Given the description of an element on the screen output the (x, y) to click on. 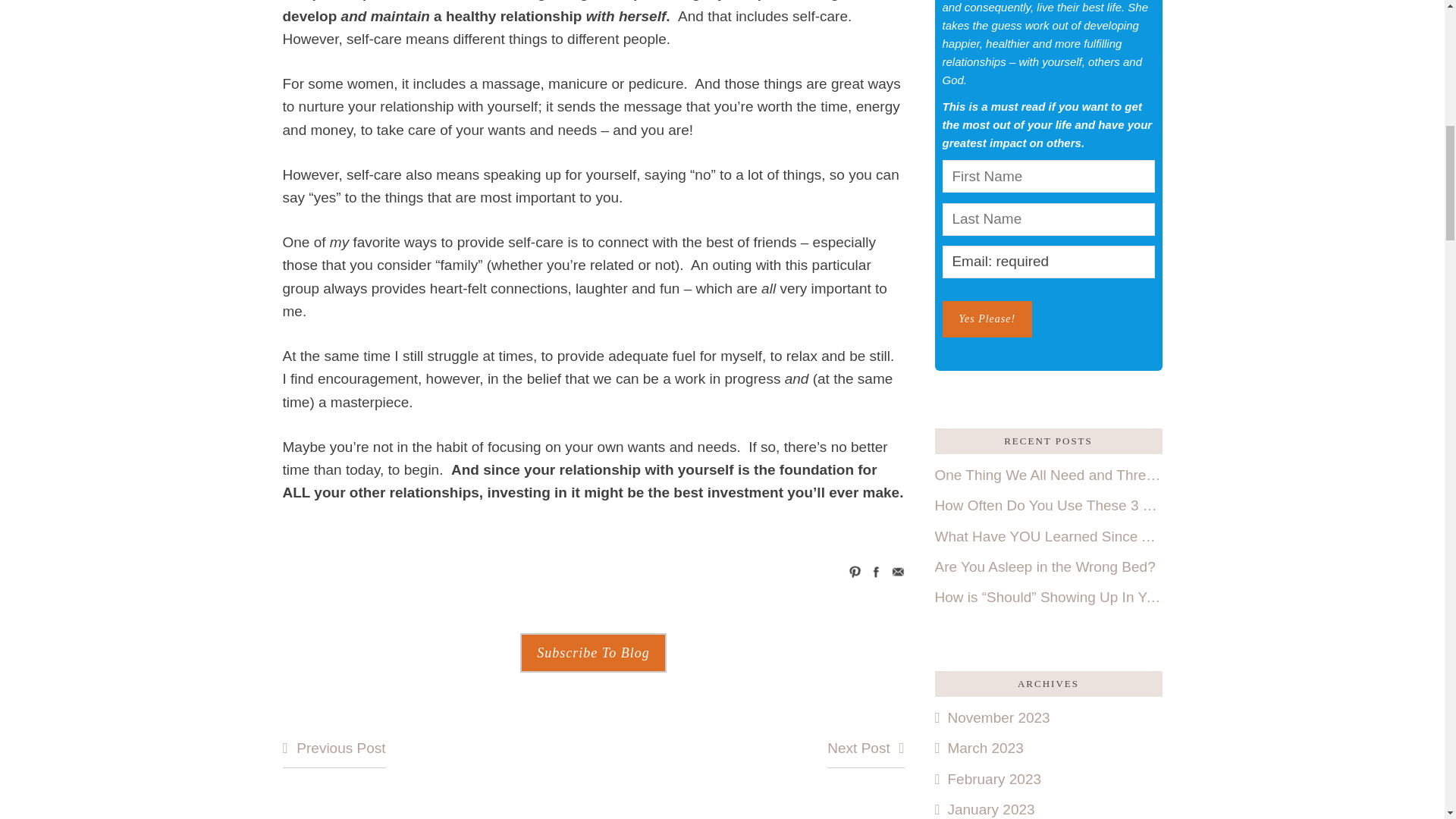
January 2023 (983, 809)
What Have YOU Learned Since August 23, 2020? (1047, 536)
February 2023 (987, 779)
March 2023 (978, 747)
Previous Post (333, 749)
Next Post (865, 749)
Share by Email (897, 571)
Subscribe to Blog (592, 652)
November 2023 (991, 717)
Yes Please! (987, 319)
Subscribe To Blog (592, 652)
Yes Please! (987, 319)
Are You Asleep in the Wrong Bed? (1047, 567)
How Often Do You Use These 3 Hurtful Words? (1047, 505)
Email: required (1048, 261)
